Given the description of an element on the screen output the (x, y) to click on. 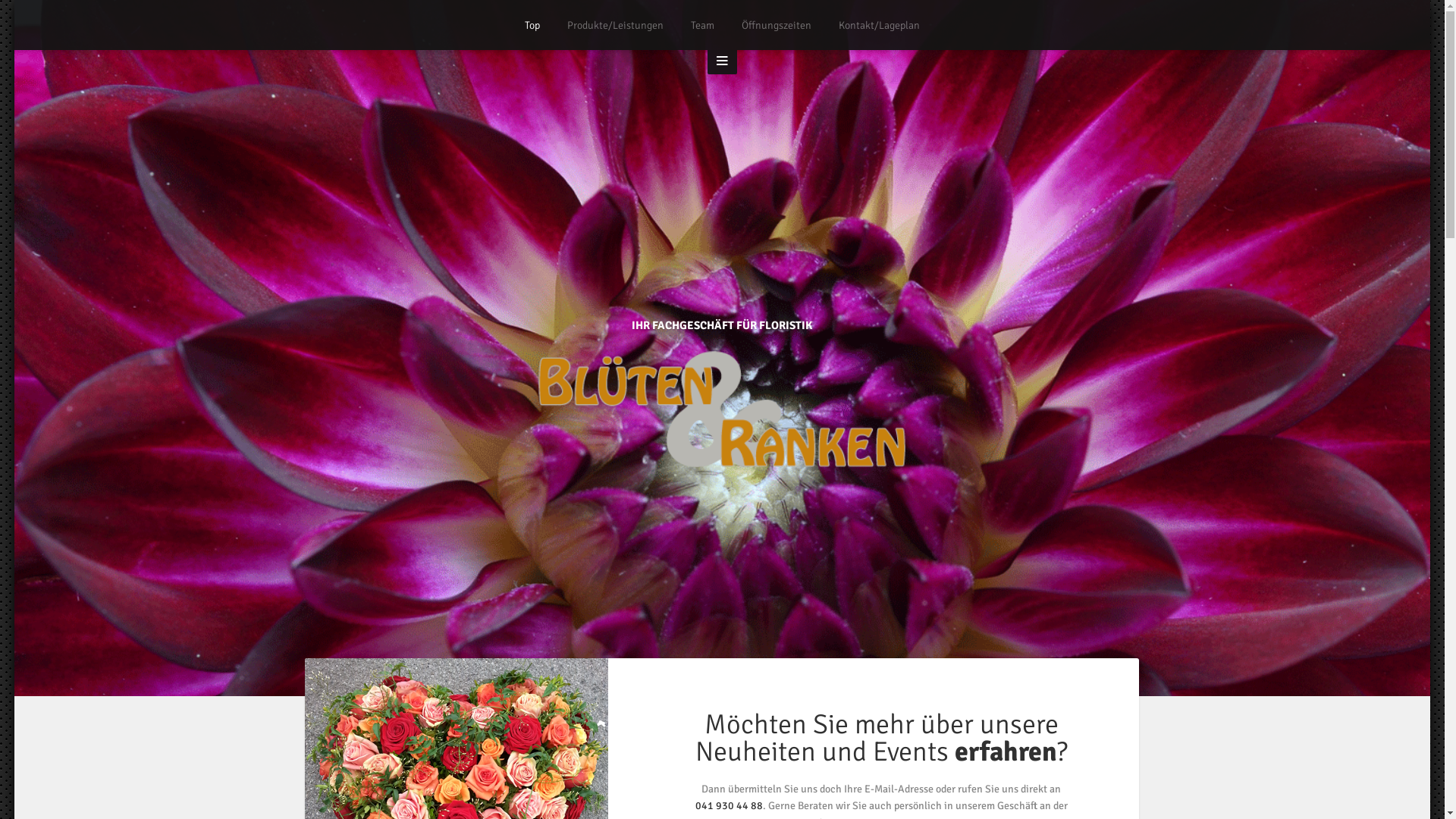
Team Element type: text (702, 24)
Top Element type: text (531, 24)
Kontakt/Lageplan Element type: text (878, 24)
Produkte/Leistungen Element type: text (615, 24)
